Given the description of an element on the screen output the (x, y) to click on. 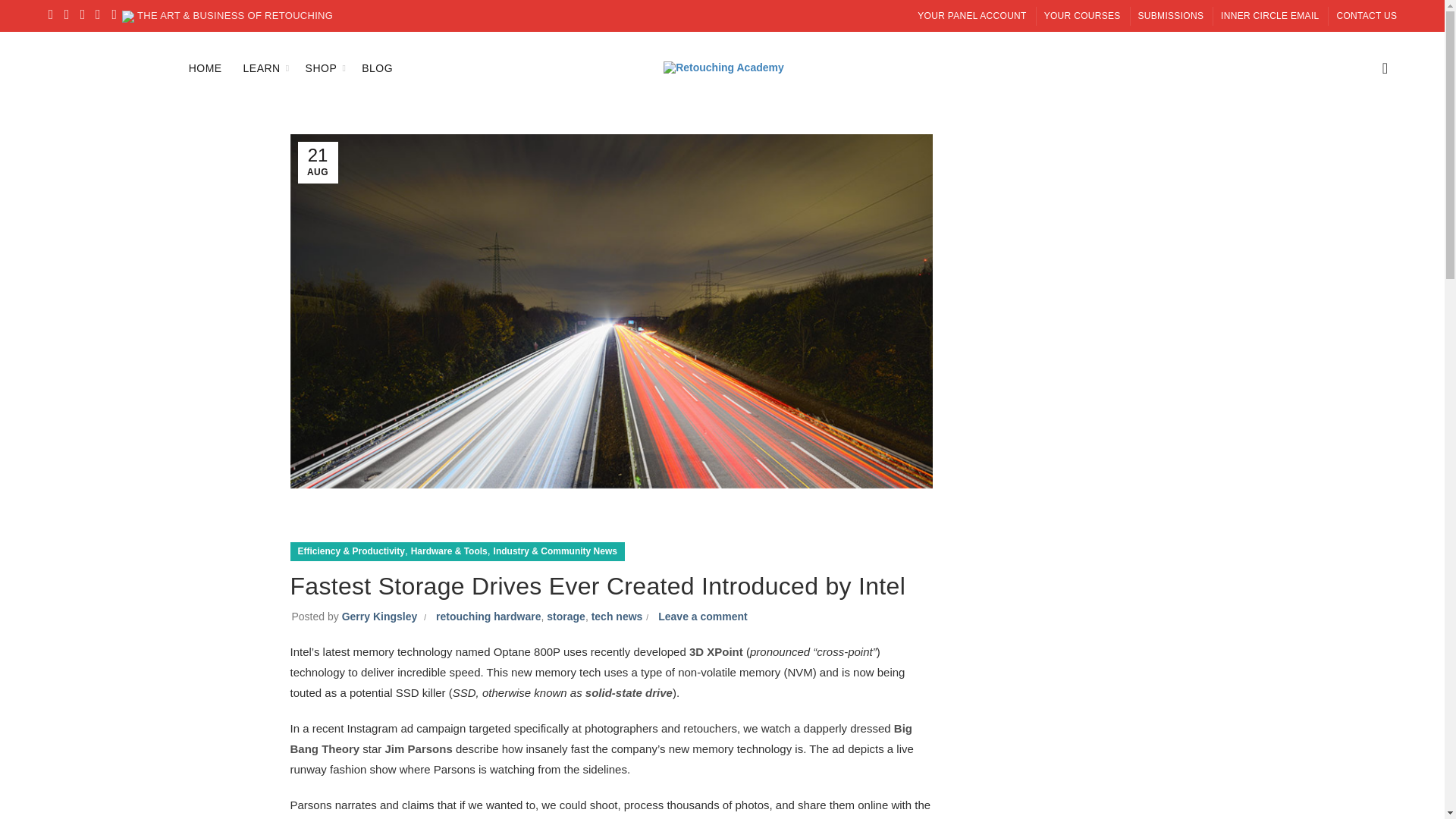
CONTACT US (1366, 15)
LEARN (260, 67)
INNER CIRCLE EMAIL (1270, 15)
HOME (205, 67)
SHOP (321, 67)
YOUR COURSES (1082, 15)
SUBMISSIONS (1171, 15)
YOUR PANEL ACCOUNT (971, 15)
